Given the description of an element on the screen output the (x, y) to click on. 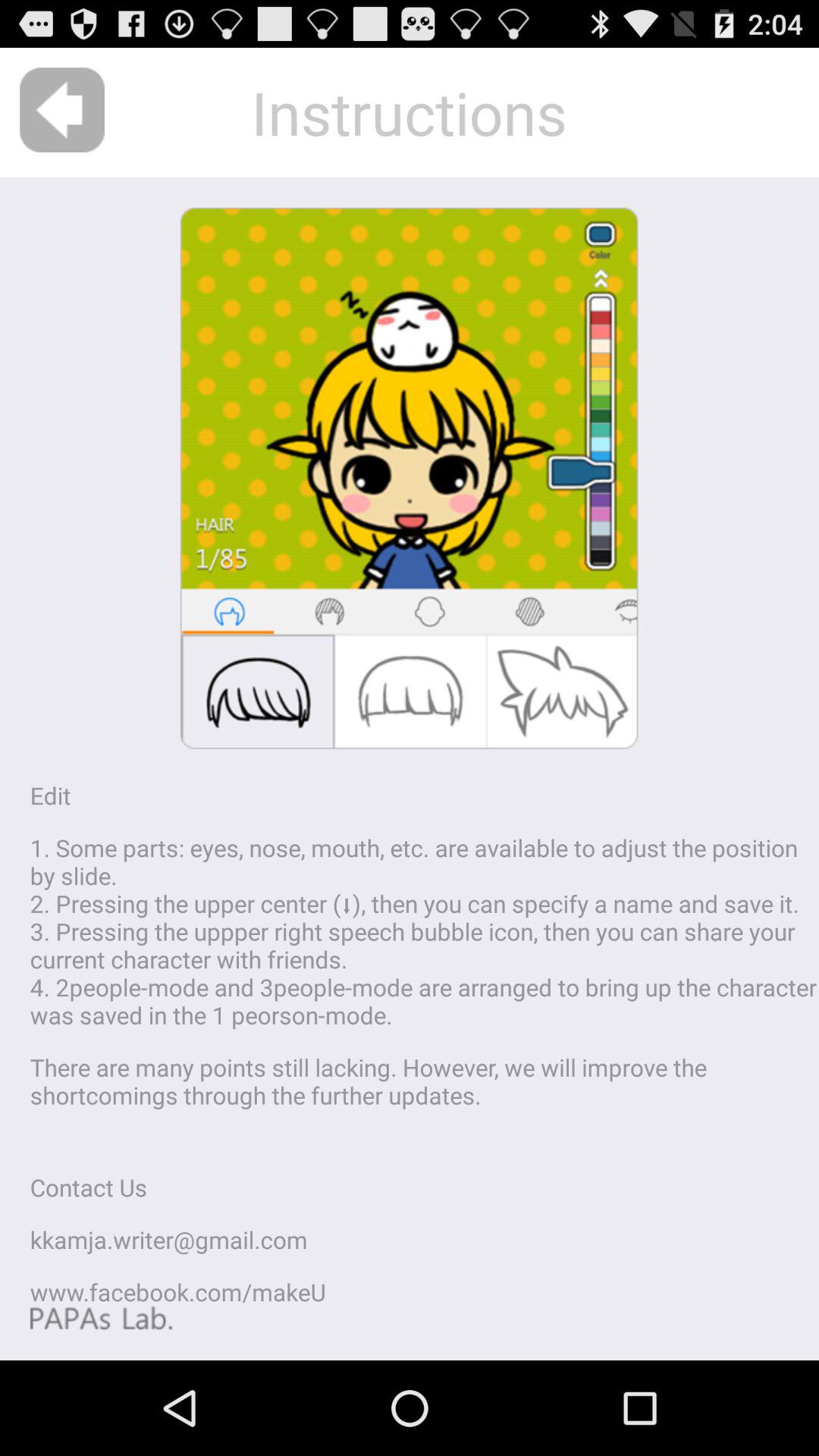
launch the icon above edit app (61, 109)
